Given the description of an element on the screen output the (x, y) to click on. 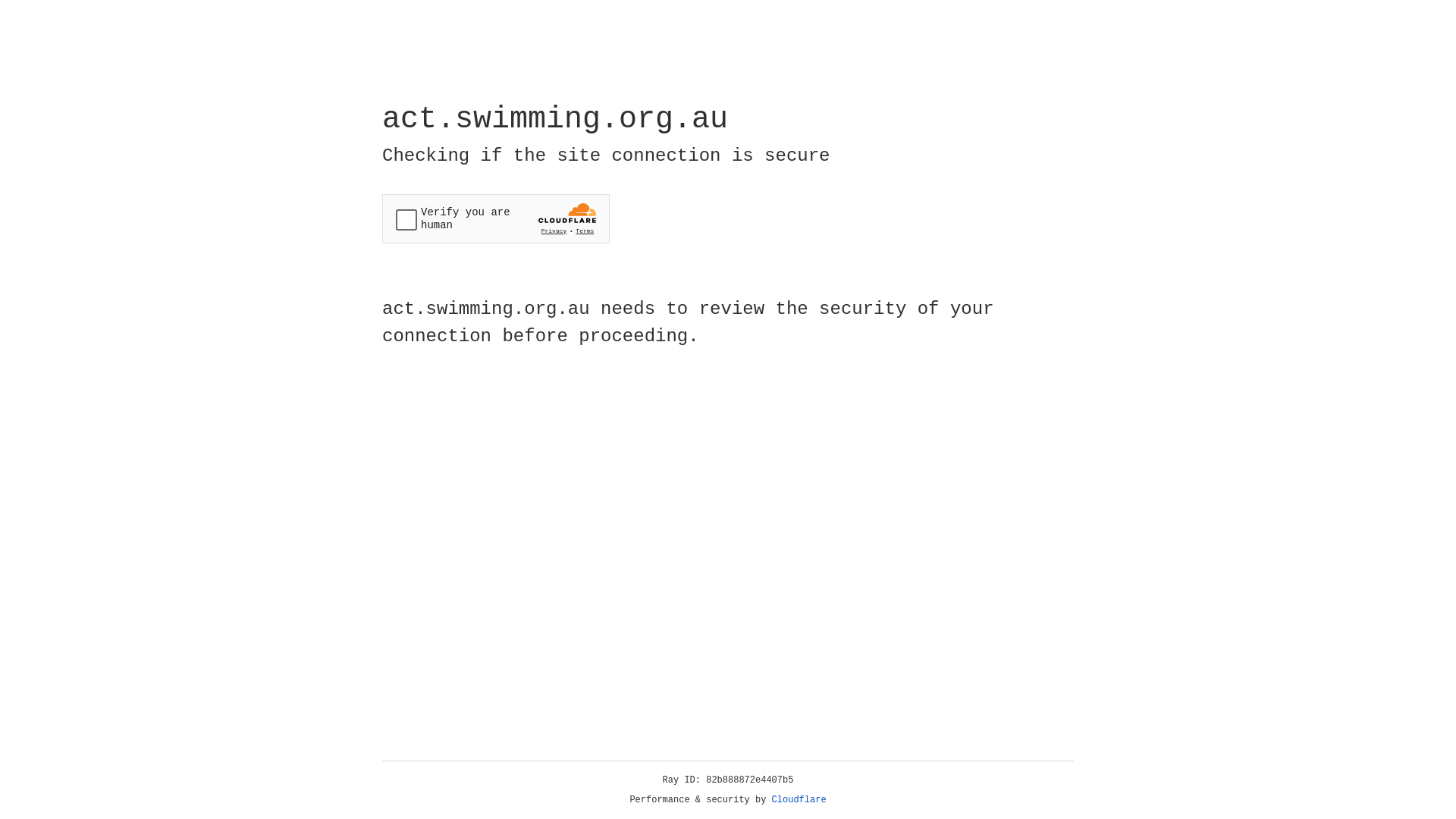
Cloudflare Element type: text (798, 799)
Widget containing a Cloudflare security challenge Element type: hover (495, 218)
